Given the description of an element on the screen output the (x, y) to click on. 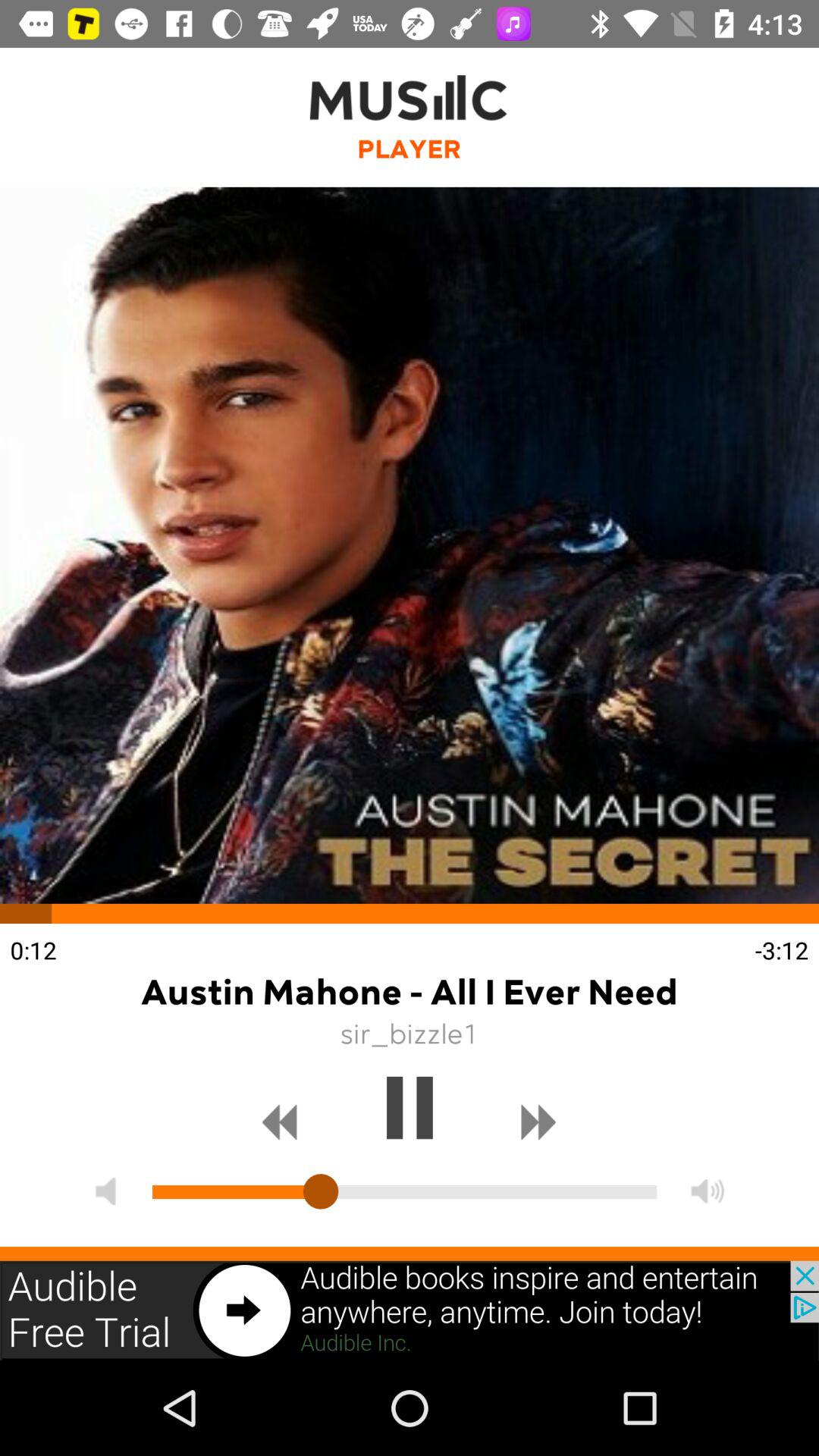
pause (409, 1108)
